Given the description of an element on the screen output the (x, y) to click on. 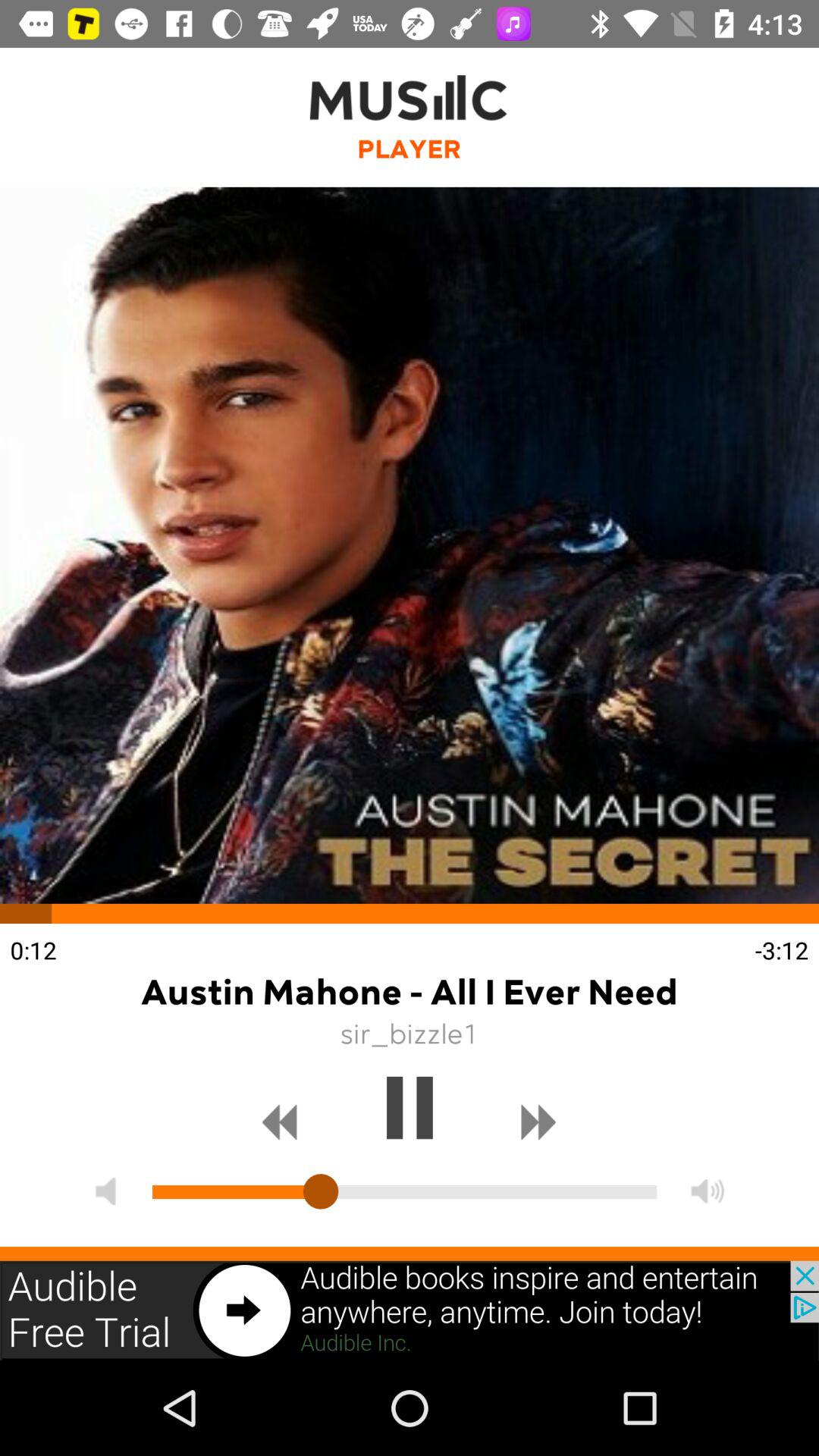
pause (409, 1108)
